Given the description of an element on the screen output the (x, y) to click on. 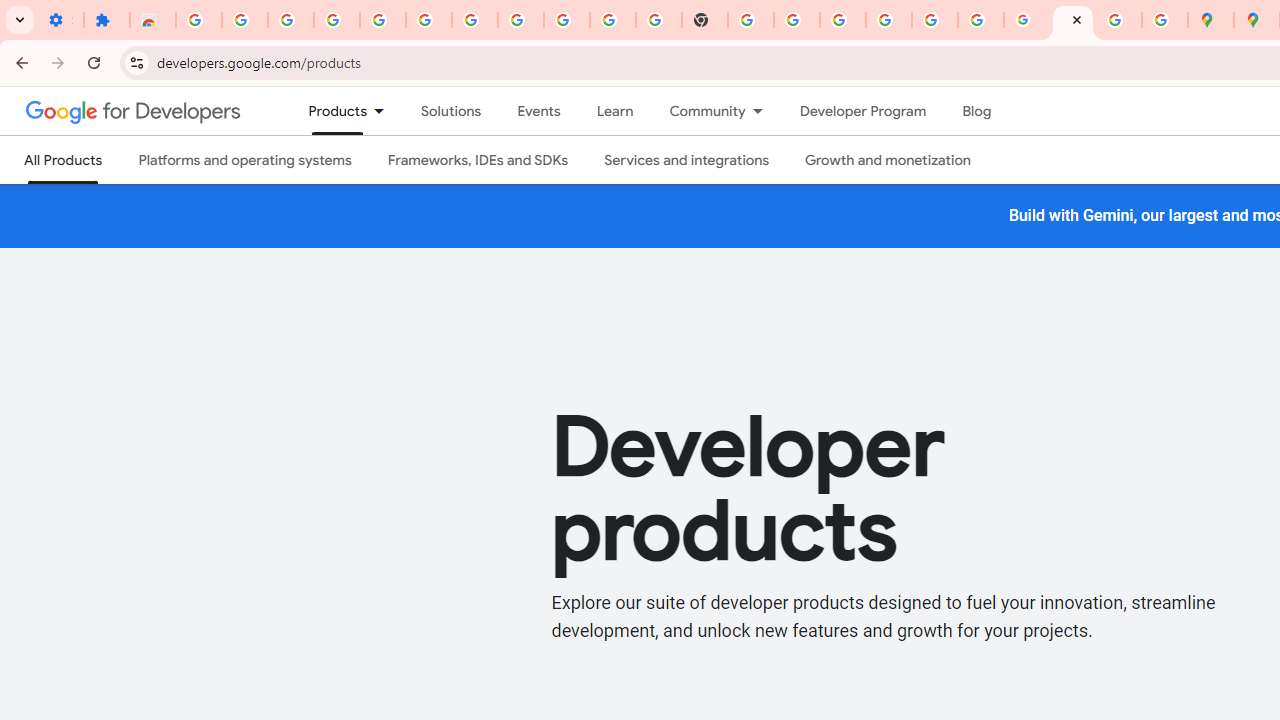
https://scholar.google.com/ (751, 20)
Sign in - Google Accounts (889, 20)
All Products, selected (63, 160)
Events (538, 111)
Safety in Our Products - Google Safety Center (1164, 20)
Sign in - Google Accounts (474, 20)
Growth and monetization (888, 160)
Learning Catalog (614, 111)
Dropdown menu for Community (763, 111)
